Given the description of an element on the screen output the (x, y) to click on. 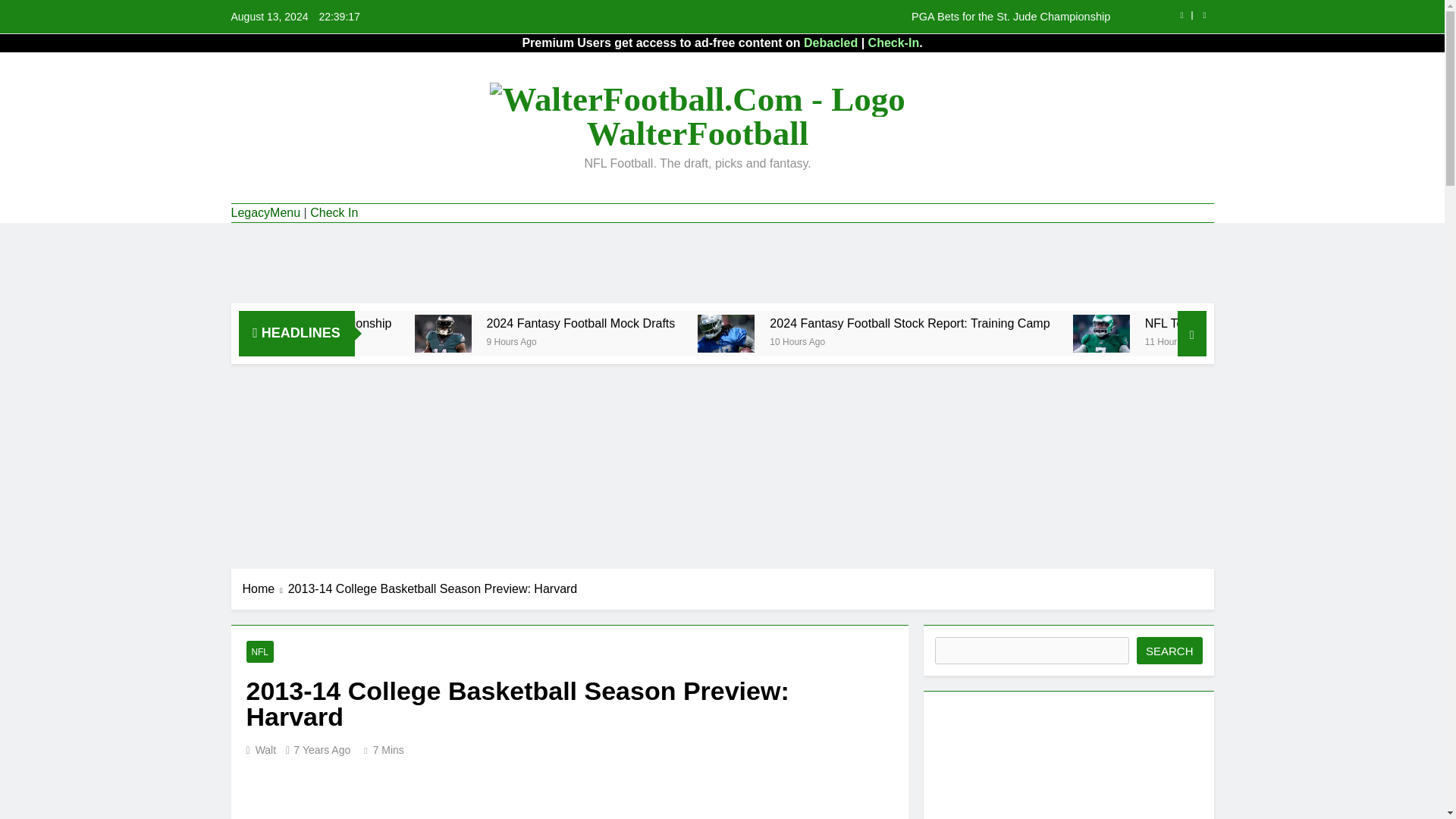
PGA Bets for the St. Jude Championship (817, 16)
Check In (334, 212)
LegacyMenu (264, 212)
PGA Bets for the St. Jude Championship (421, 323)
Check-In (893, 42)
Debacled (830, 42)
PGA Bets for the St. Jude Championship (817, 16)
WalterFootball (697, 133)
